Given the description of an element on the screen output the (x, y) to click on. 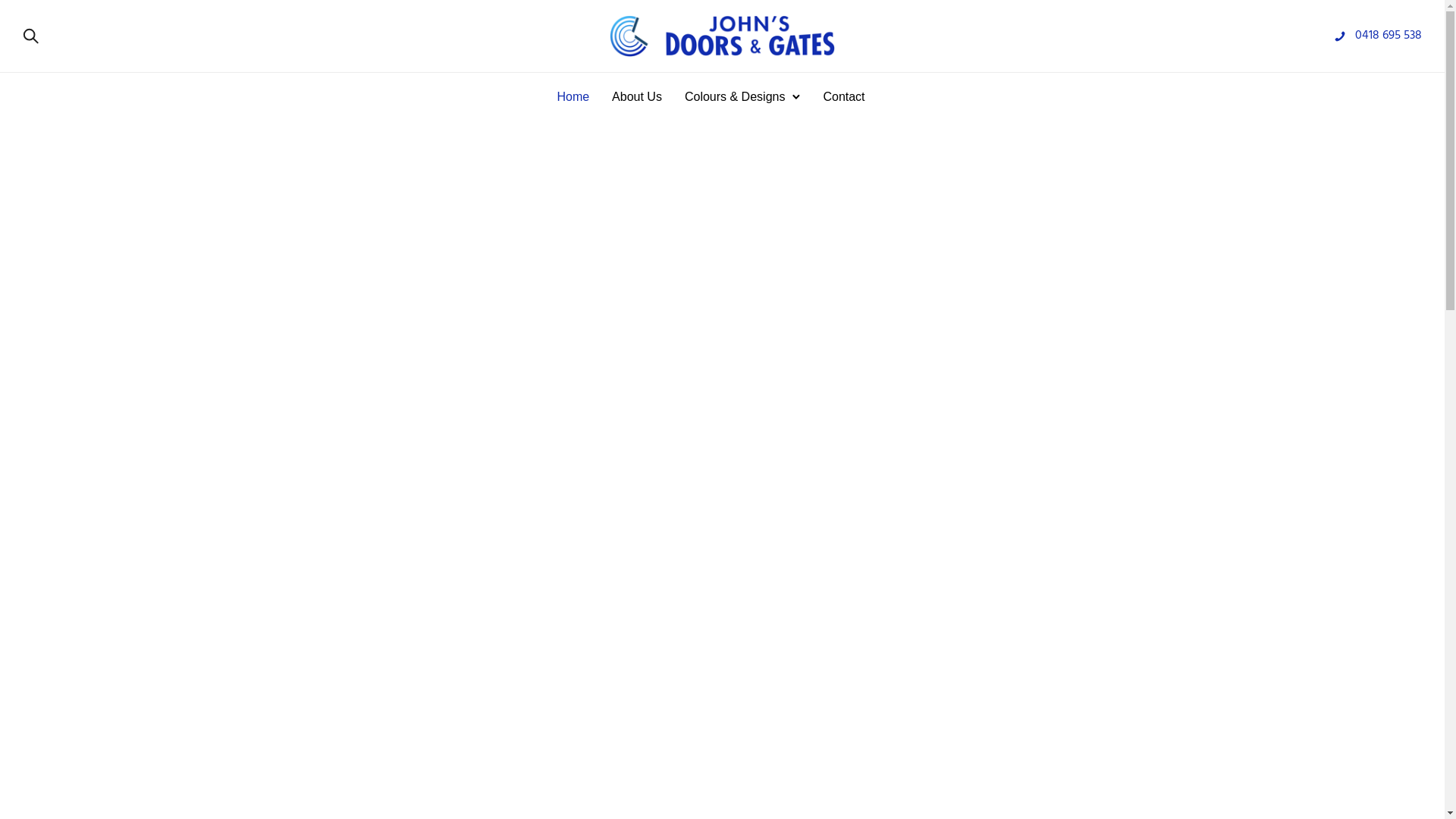
GET A QUOTE Element type: text (465, 371)
0418 695 538 Element type: text (1388, 35)
About Us Element type: text (636, 96)
Contact Element type: text (843, 96)
ABOUT US Element type: text (335, 371)
Colours & Designs Element type: text (735, 96)
Sectional Door Element type: text (409, 714)
Home Element type: text (572, 96)
Industrial Steel Roller Shutters Element type: text (733, 714)
Security Roller Grilles Element type: text (1032, 707)
